Given the description of an element on the screen output the (x, y) to click on. 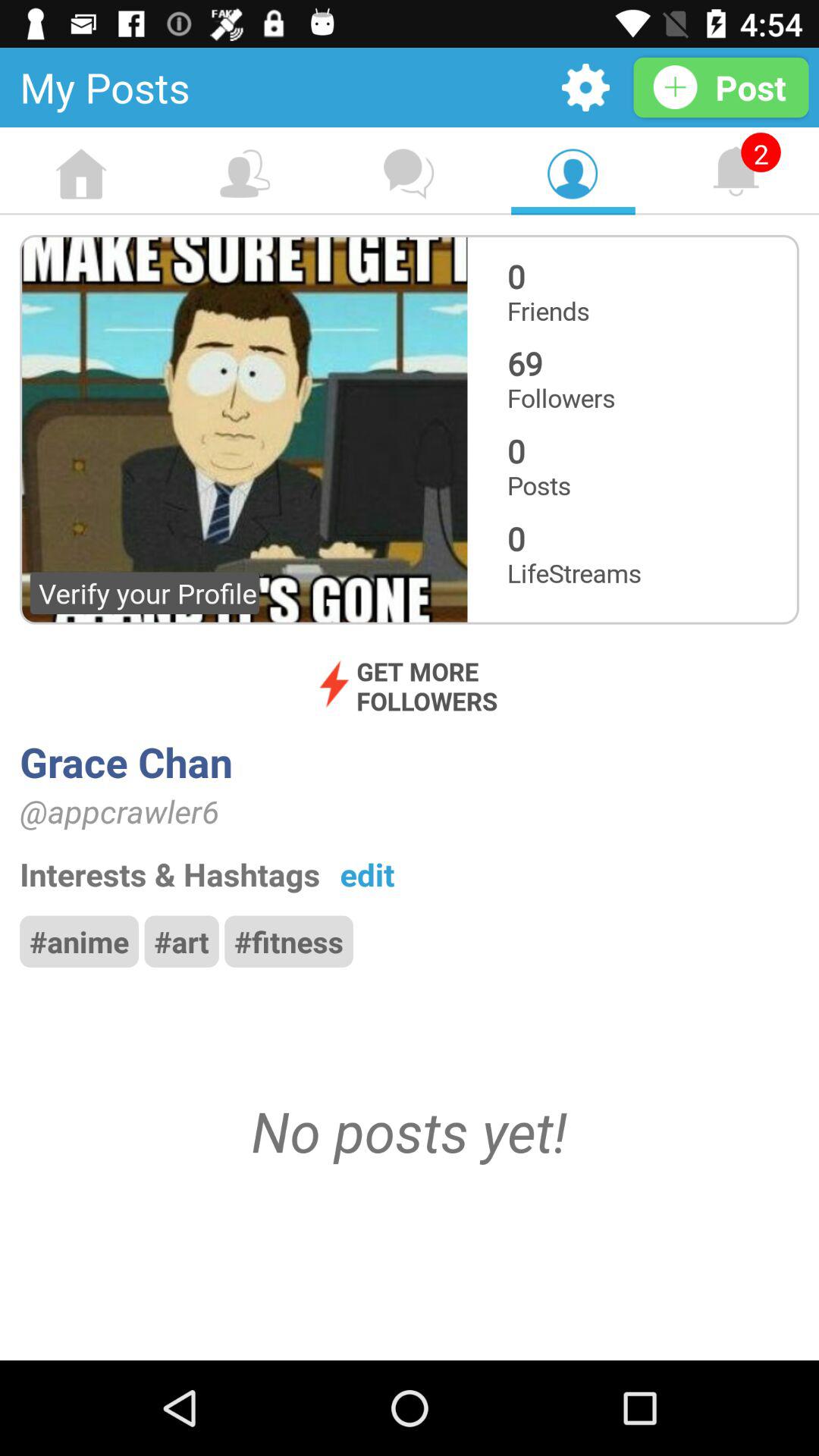
open settings (585, 87)
